Given the description of an element on the screen output the (x, y) to click on. 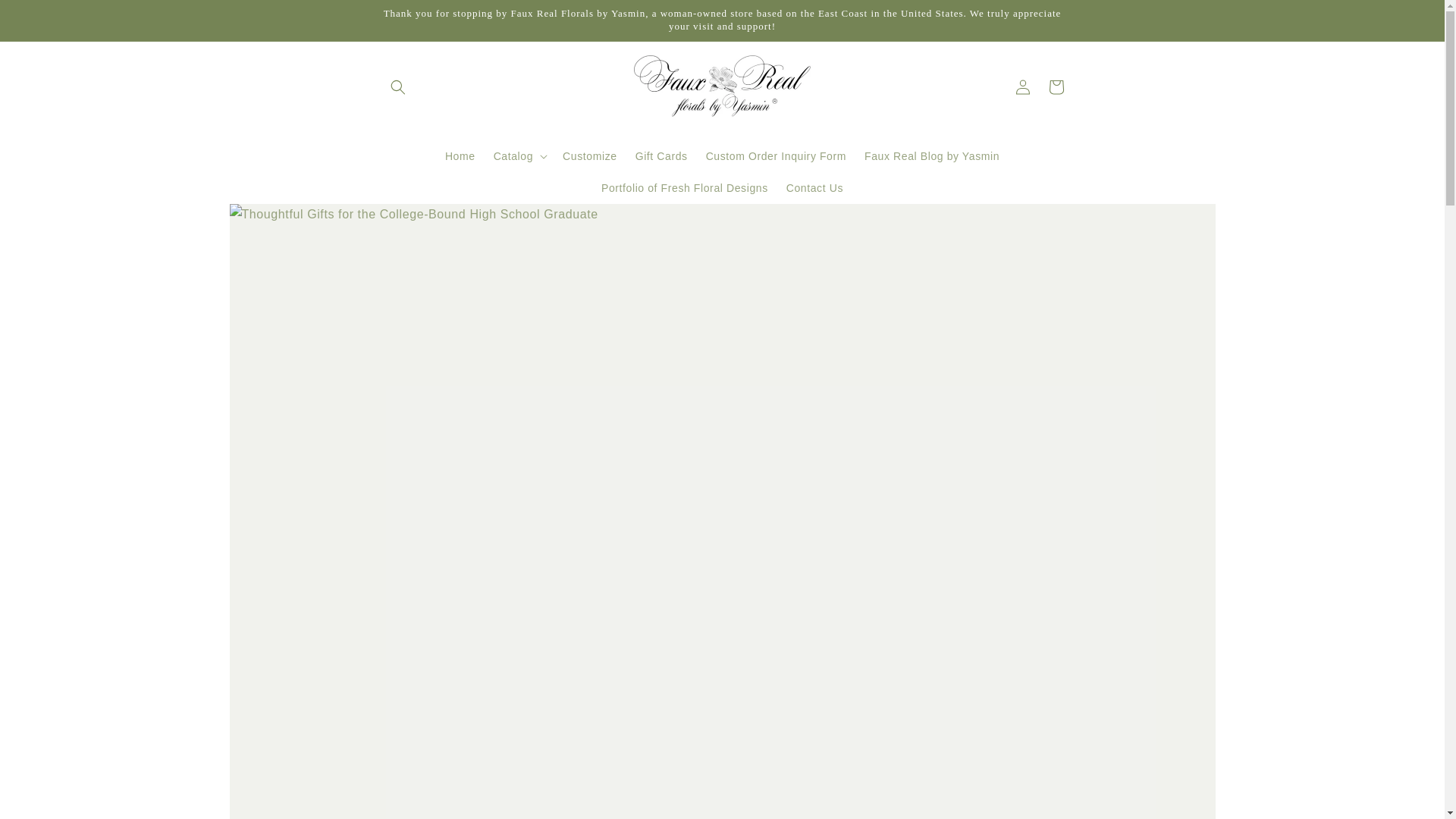
Skip to content (46, 18)
Home (459, 155)
